Given the description of an element on the screen output the (x, y) to click on. 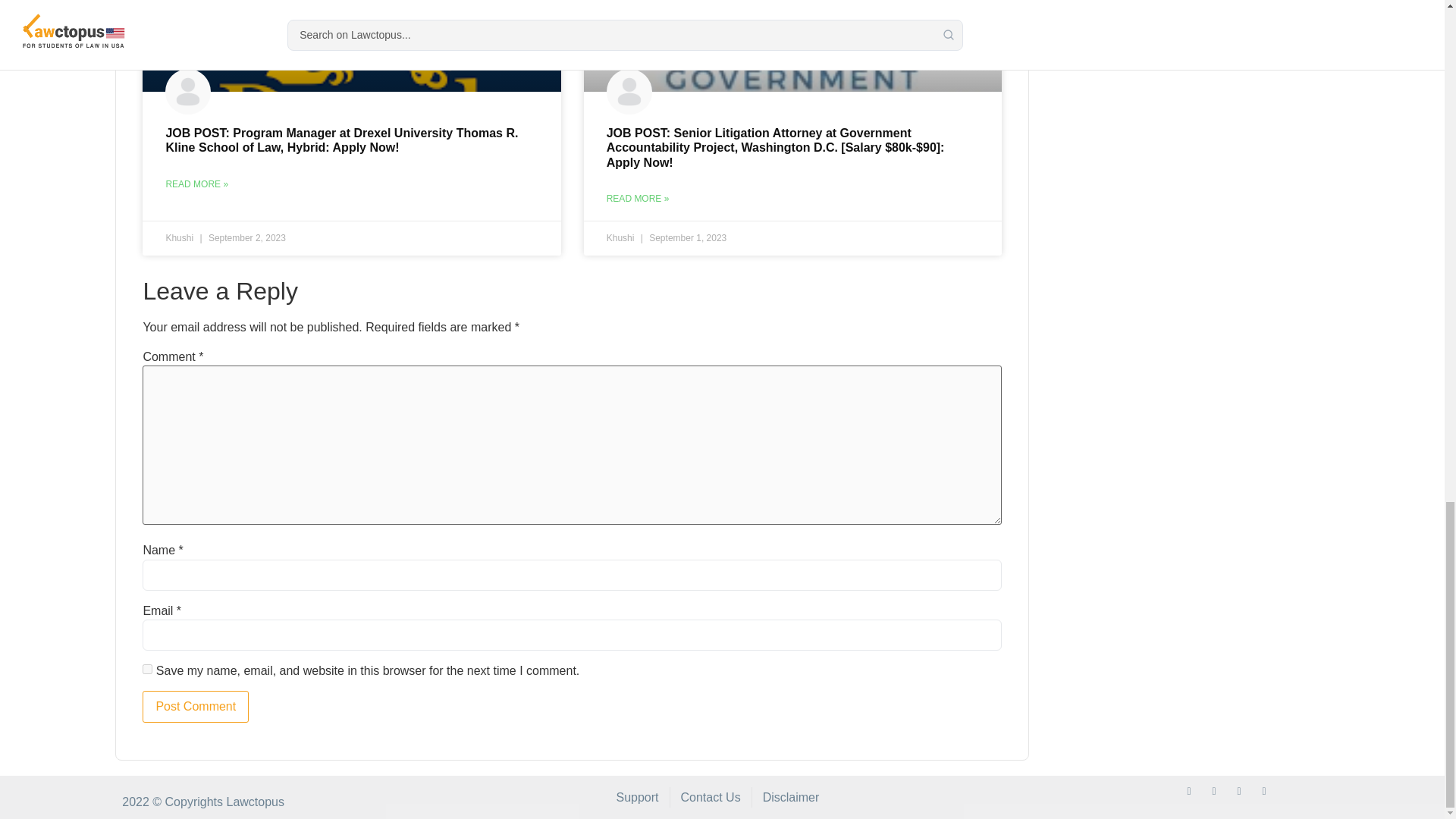
yes (147, 669)
Post Comment (195, 706)
